Given the description of an element on the screen output the (x, y) to click on. 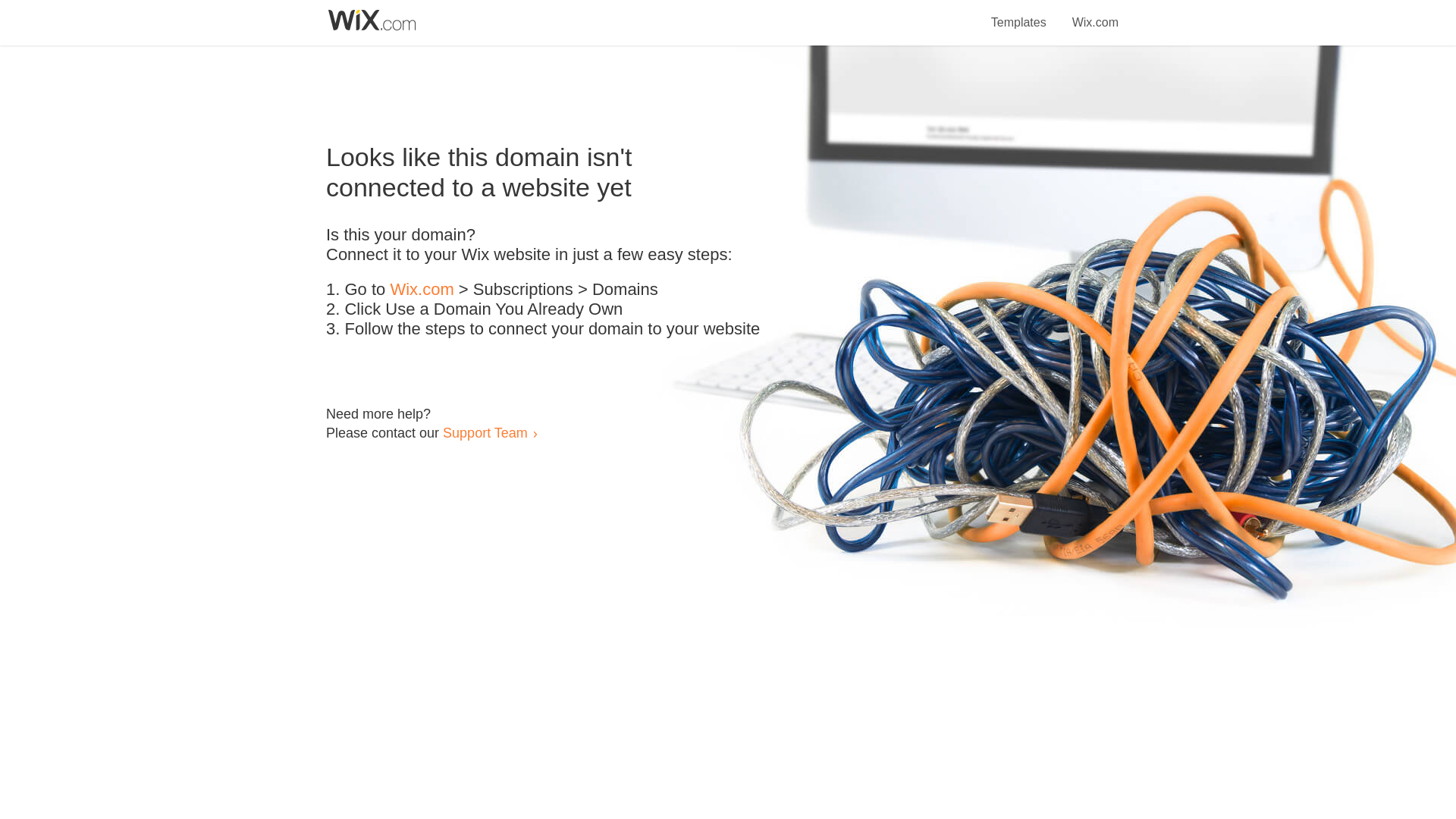
Wix.com (1095, 14)
Templates (1018, 14)
Support Team (484, 432)
Wix.com (421, 289)
